Given the description of an element on the screen output the (x, y) to click on. 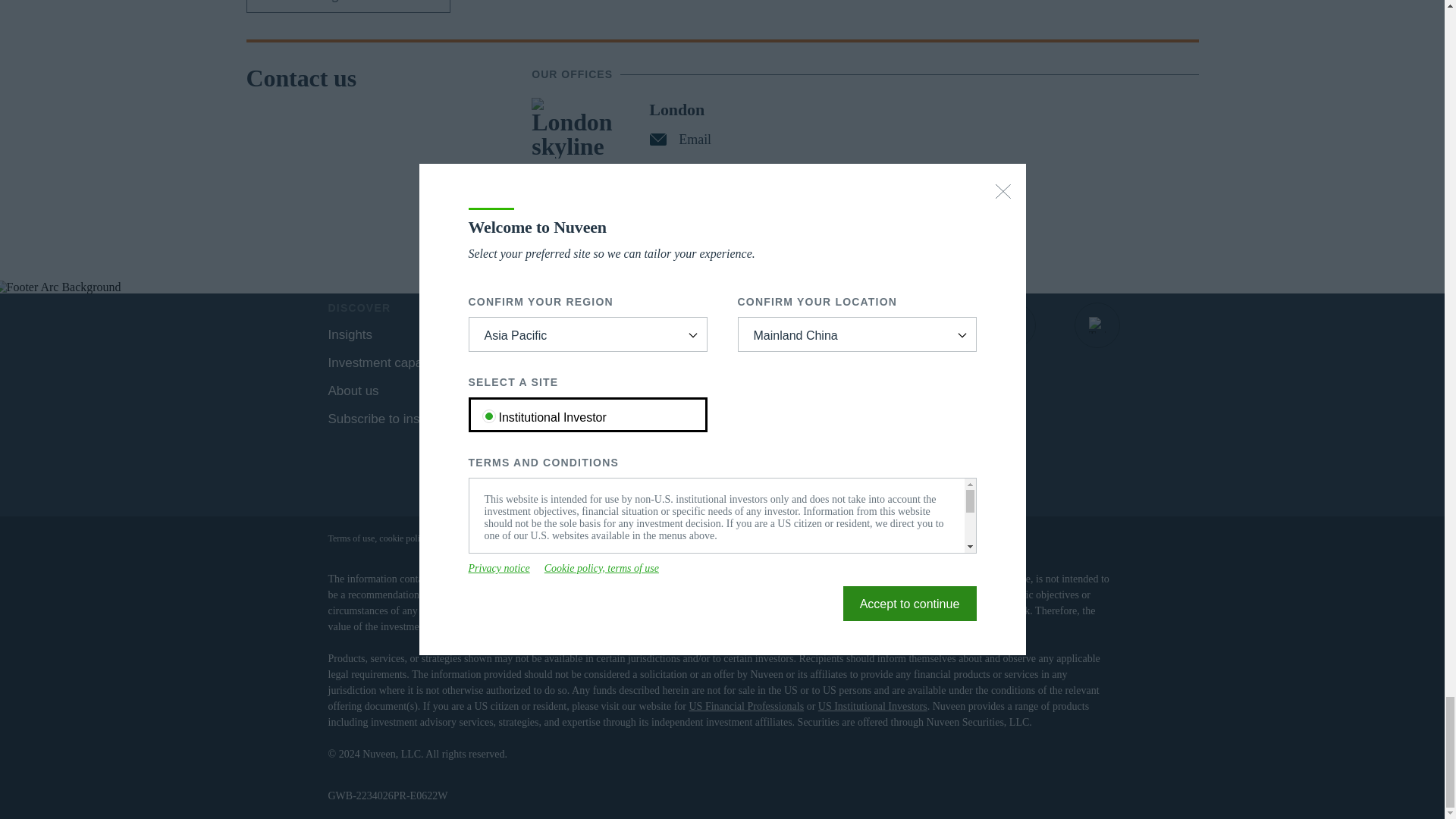
opens in a new window (508, 390)
opens in a new window (845, 325)
opens in a new window (1013, 325)
opens in a new window (1097, 325)
opens in a new window (928, 325)
